Given the description of an element on the screen output the (x, y) to click on. 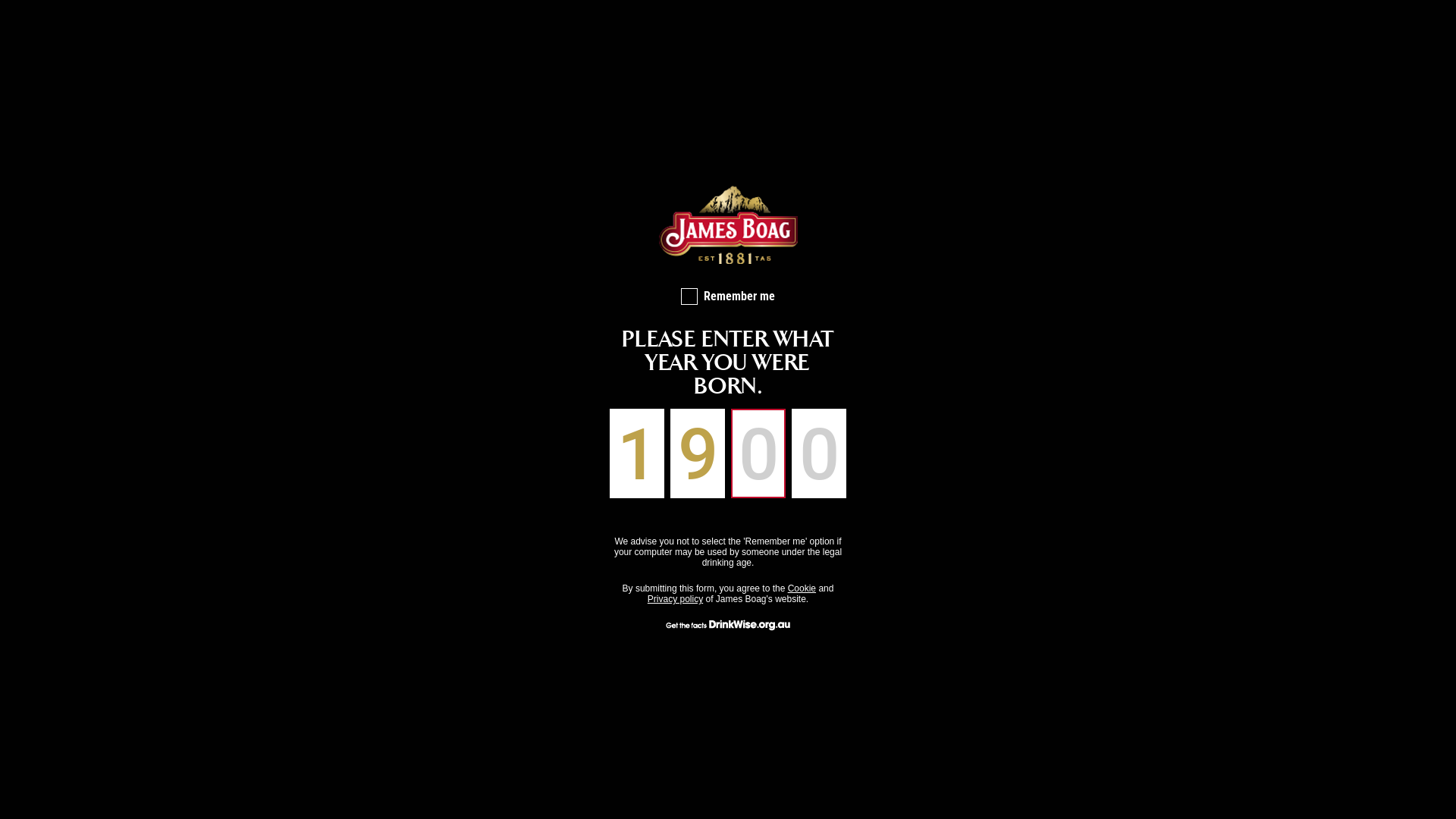
Privacy policy Element type: text (674, 598)
Cookie Element type: text (801, 588)
